Given the description of an element on the screen output the (x, y) to click on. 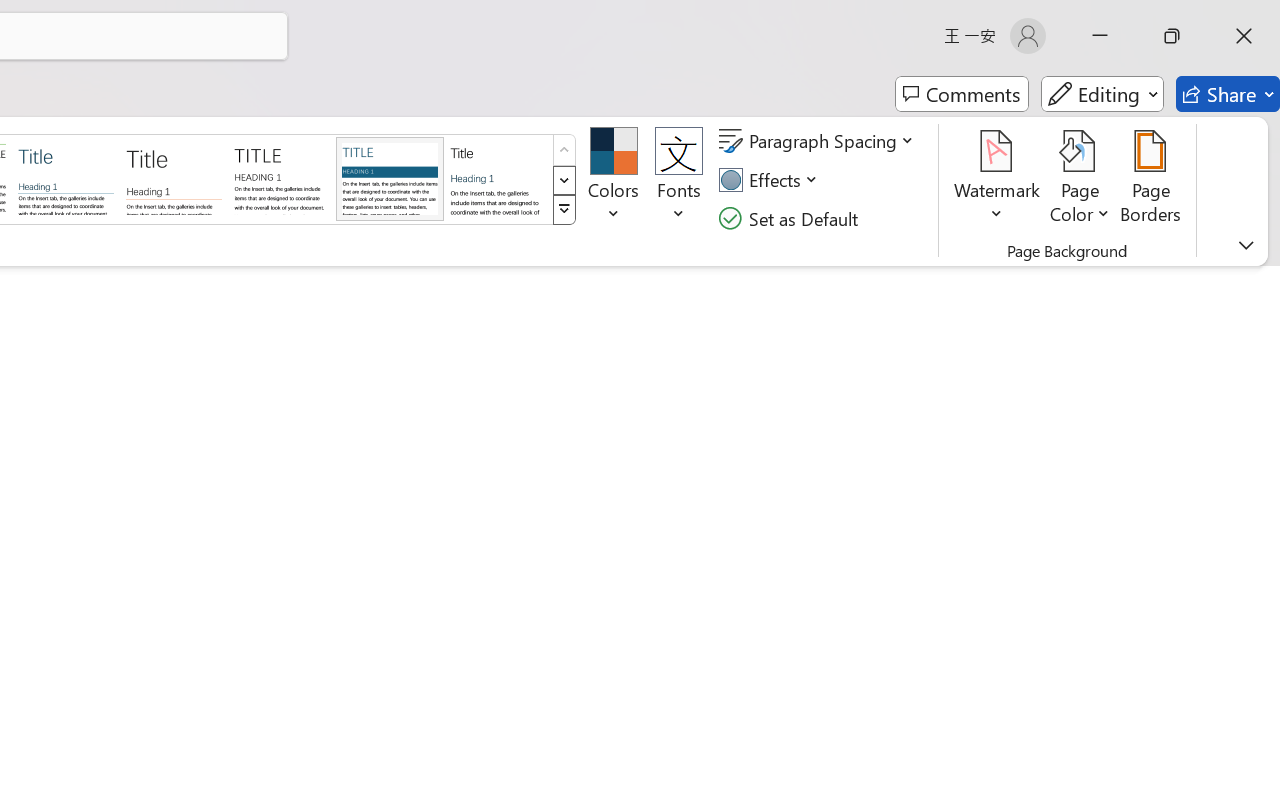
Ribbon Display Options (1246, 245)
Comments (961, 94)
Watermark (997, 179)
Lines (Stylish) (173, 178)
Restore Down (1172, 36)
Editing (1101, 94)
Minimize (1099, 36)
Close (1244, 36)
Minimalist (281, 178)
Row up (564, 150)
